Given the description of an element on the screen output the (x, y) to click on. 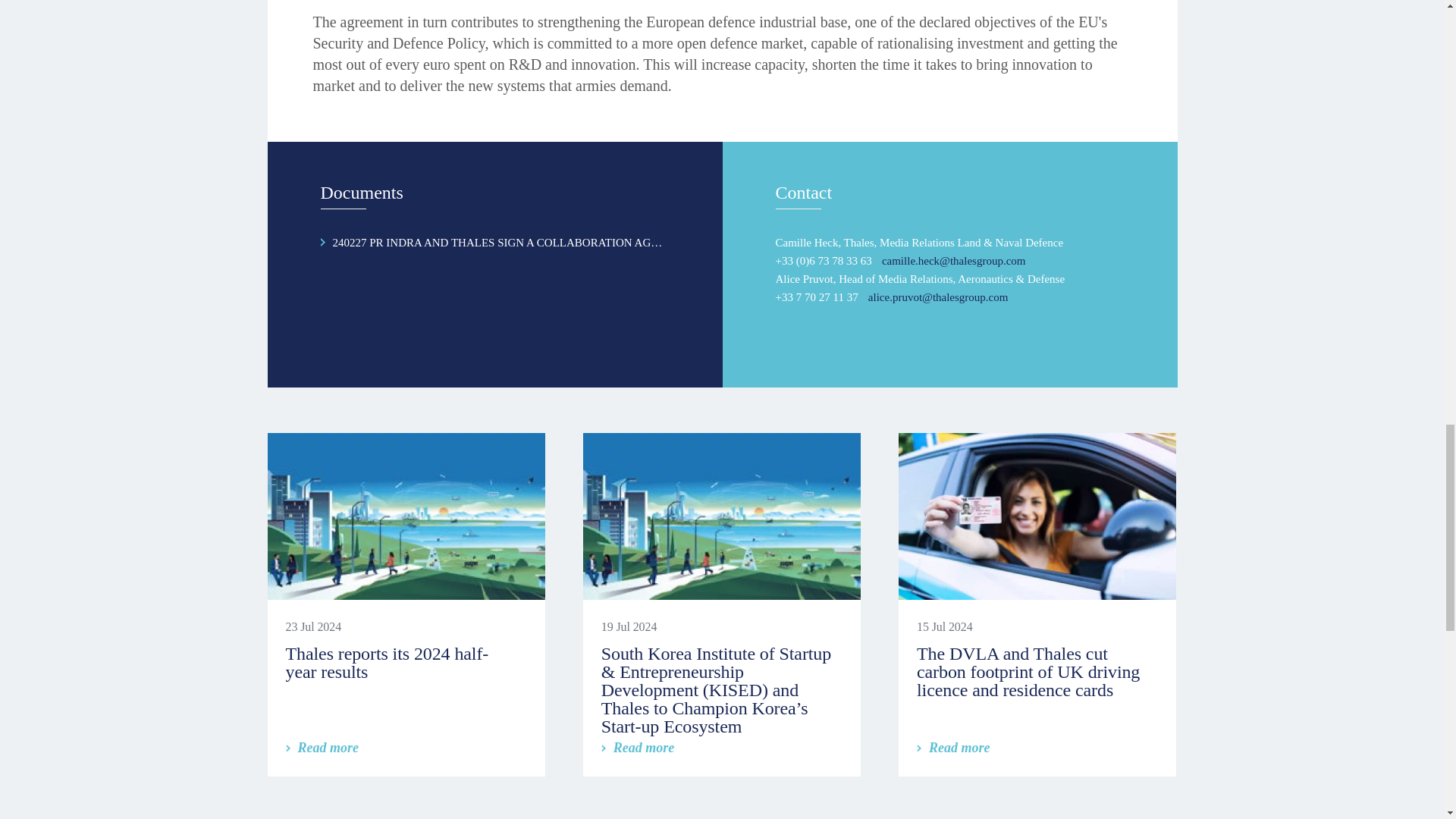
Thales reports its 2024 half-year results (386, 662)
Read more (953, 747)
Read more (638, 747)
Read more (321, 747)
